Given the description of an element on the screen output the (x, y) to click on. 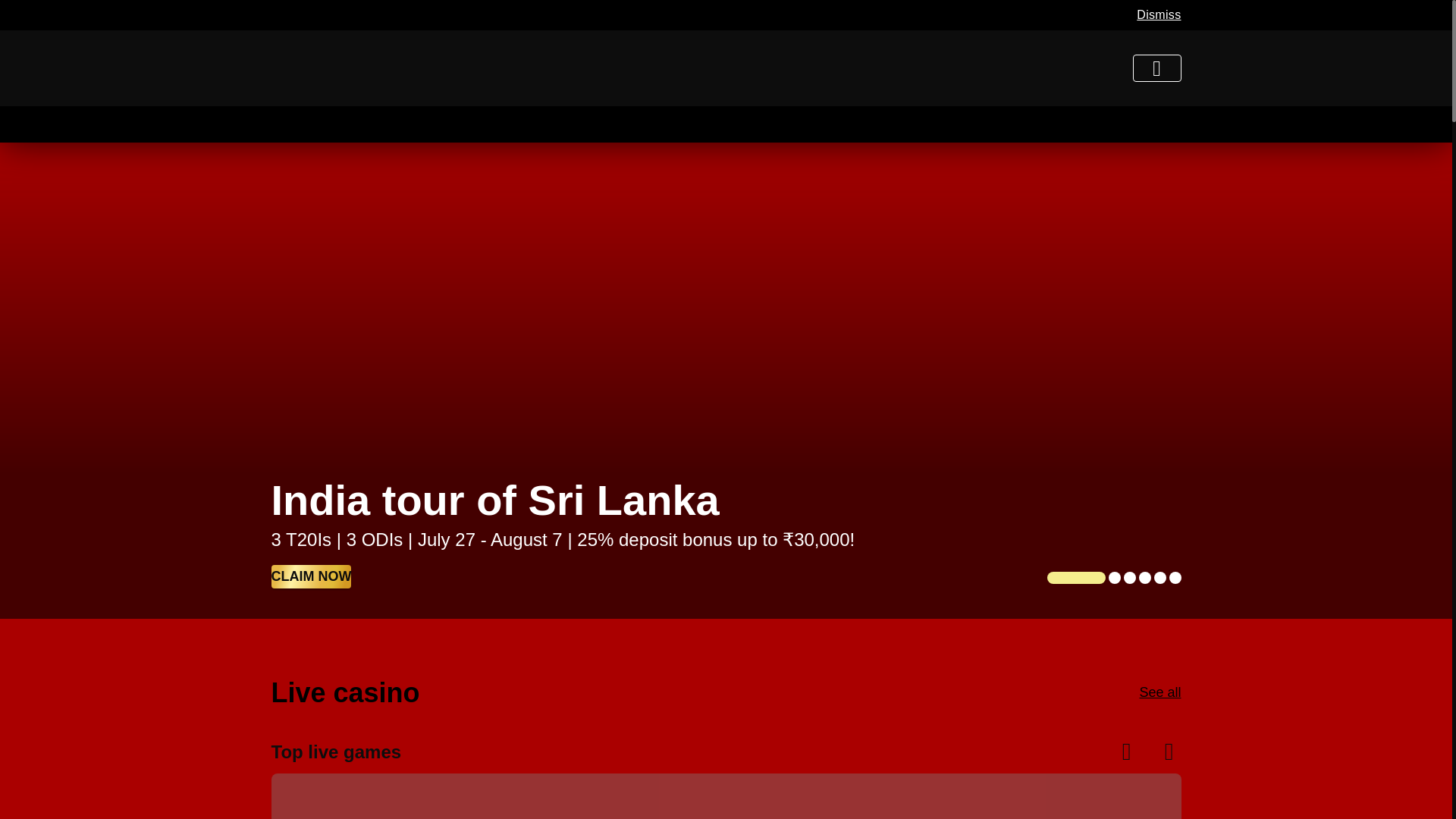
CLAIM NOW (311, 569)
See all (1159, 688)
